Given the description of an element on the screen output the (x, y) to click on. 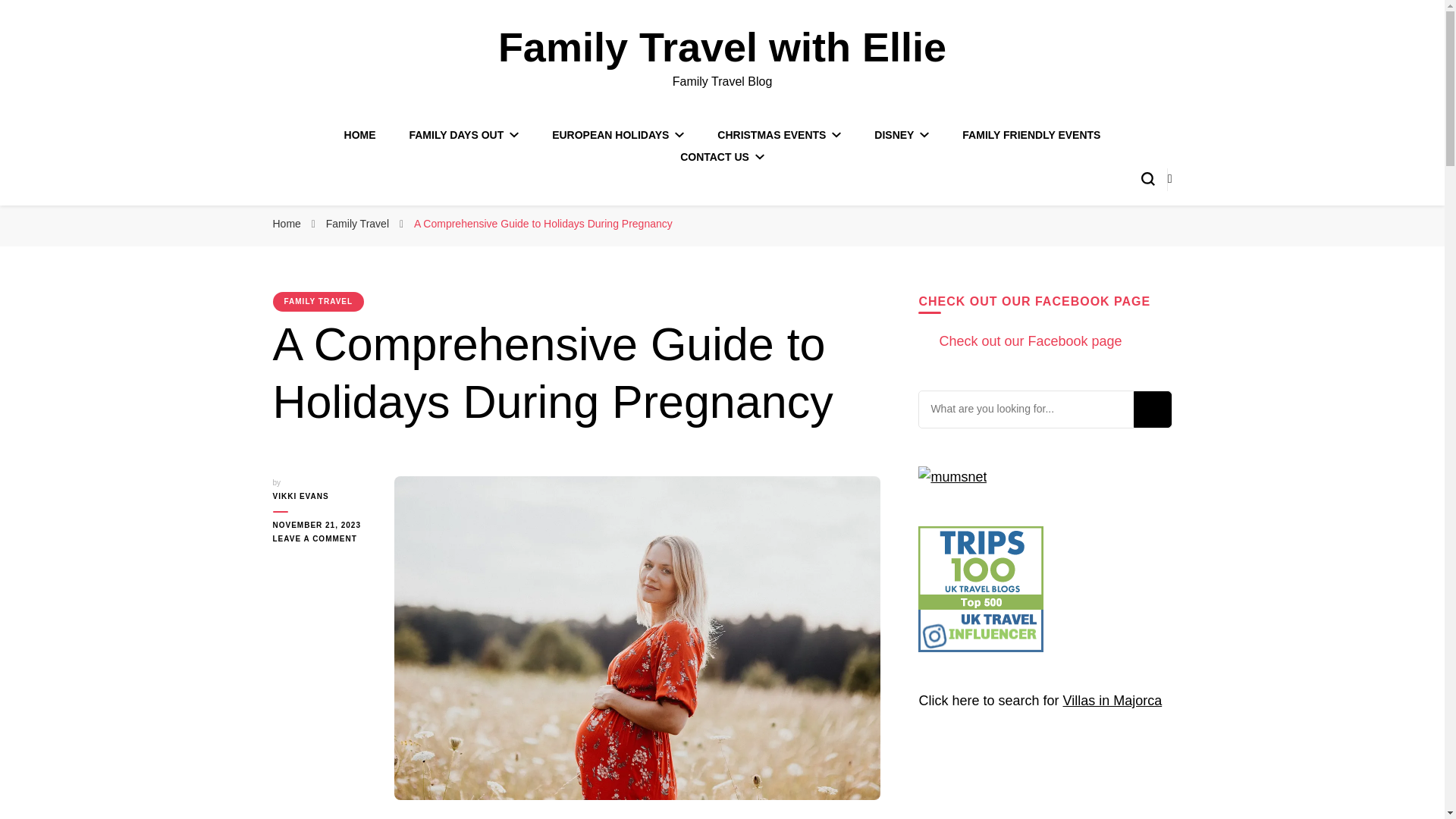
Search (1151, 409)
Trips100 - Travel Blogs (980, 567)
Trips100 (980, 630)
Search (1151, 409)
Trips100 (980, 647)
Trips100 - Travel Blogs (980, 604)
